Given the description of an element on the screen output the (x, y) to click on. 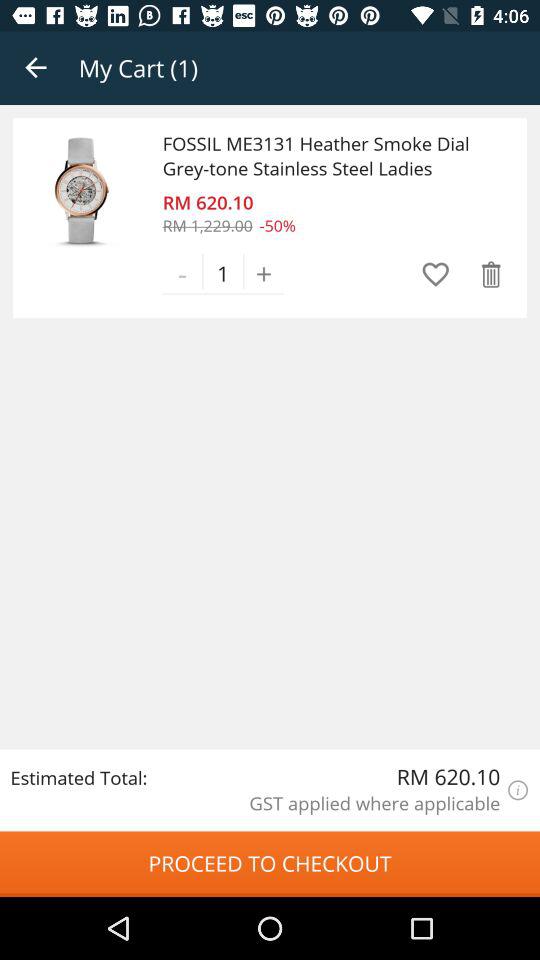
turn on item next to the fossil me3131 heather icon (82, 190)
